Given the description of an element on the screen output the (x, y) to click on. 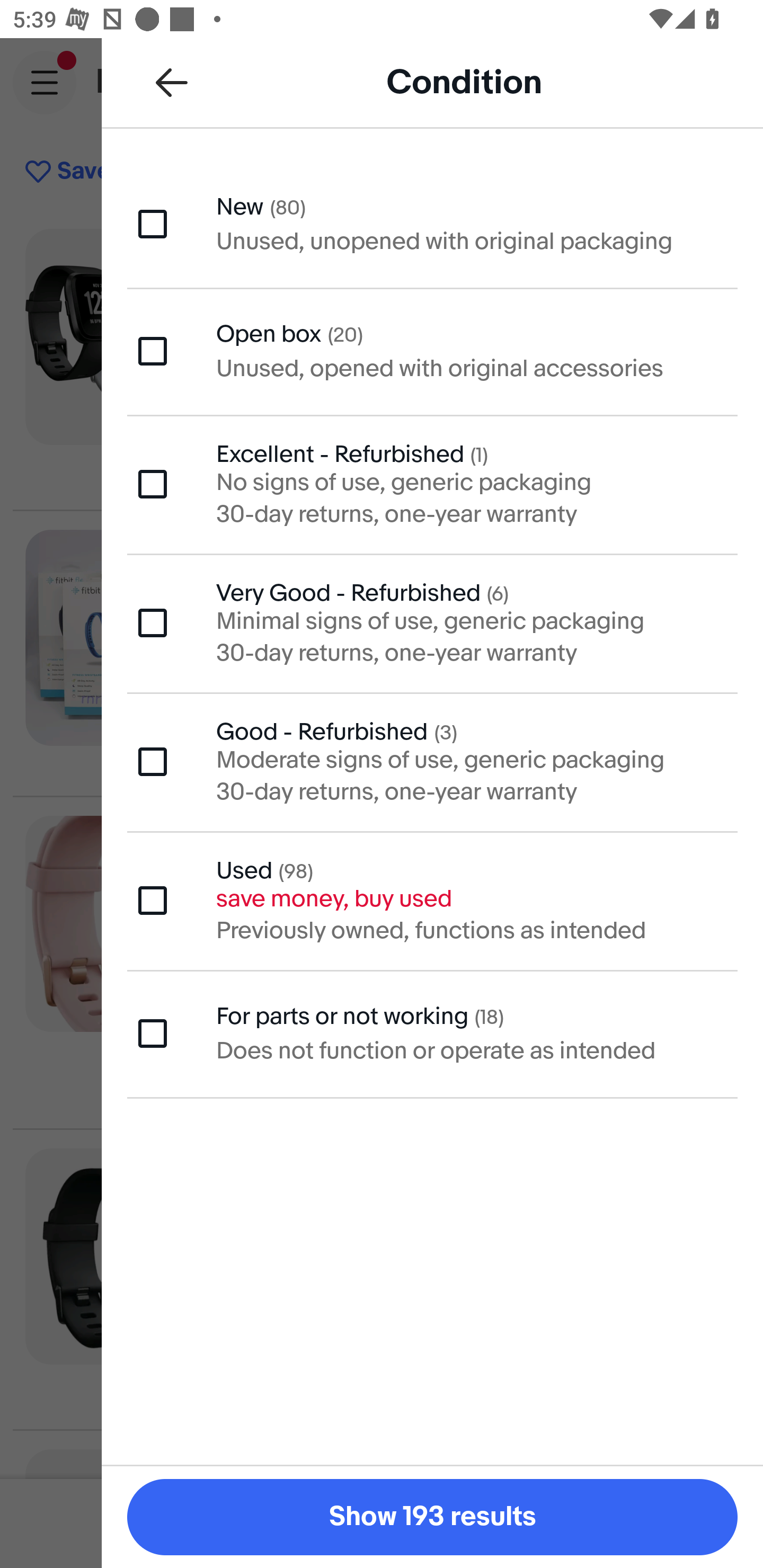
Back to all refinements (171, 81)
New (80) Unused, unopened with original packaging (432, 222)
Show 193 results (432, 1516)
